Given the description of an element on the screen output the (x, y) to click on. 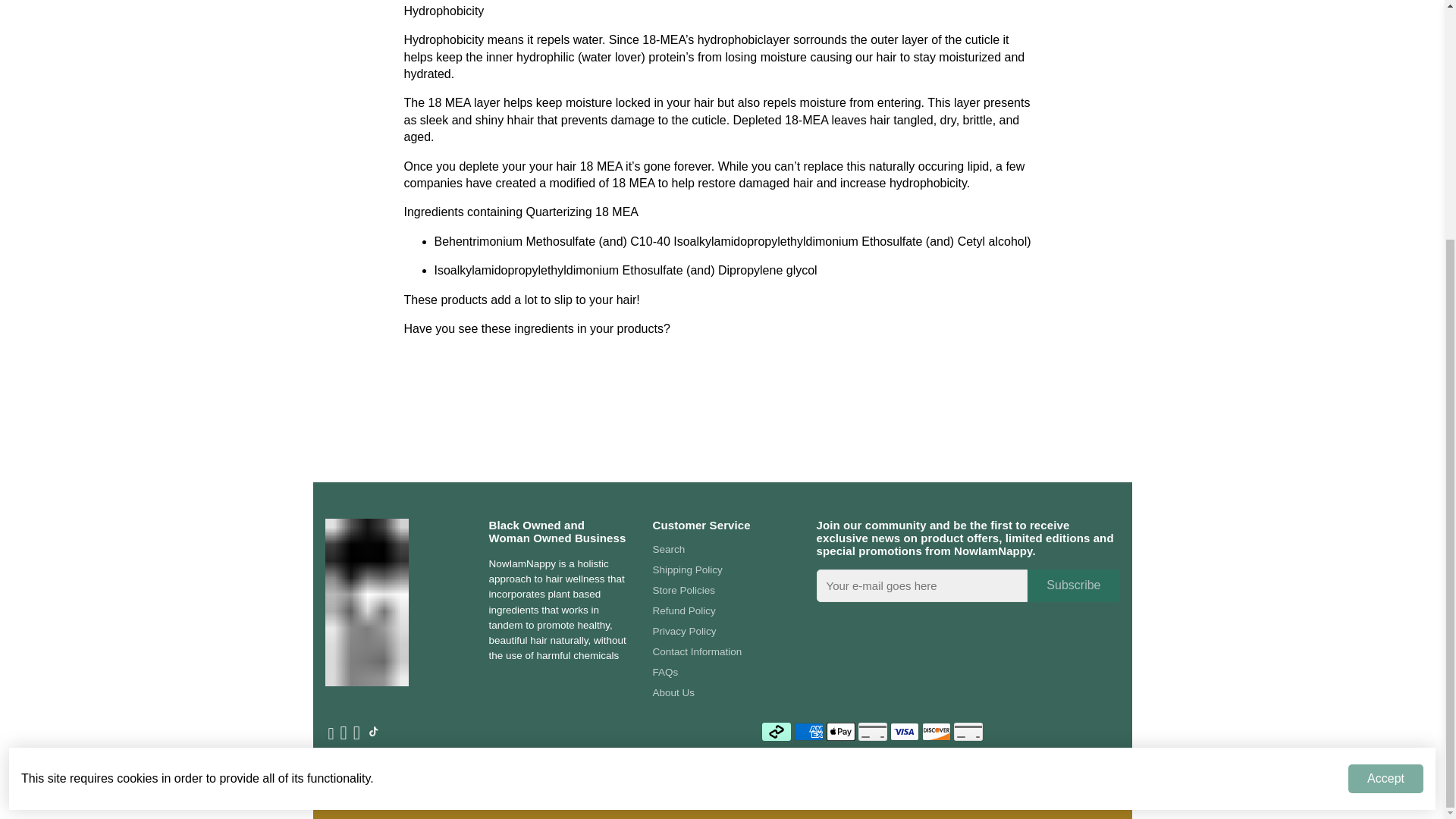
Generic (967, 731)
American Express (809, 731)
Afterpay (775, 731)
Apple Pay (841, 731)
Visa (903, 731)
Discover (935, 731)
Generic (872, 731)
Search (700, 549)
